Given the description of an element on the screen output the (x, y) to click on. 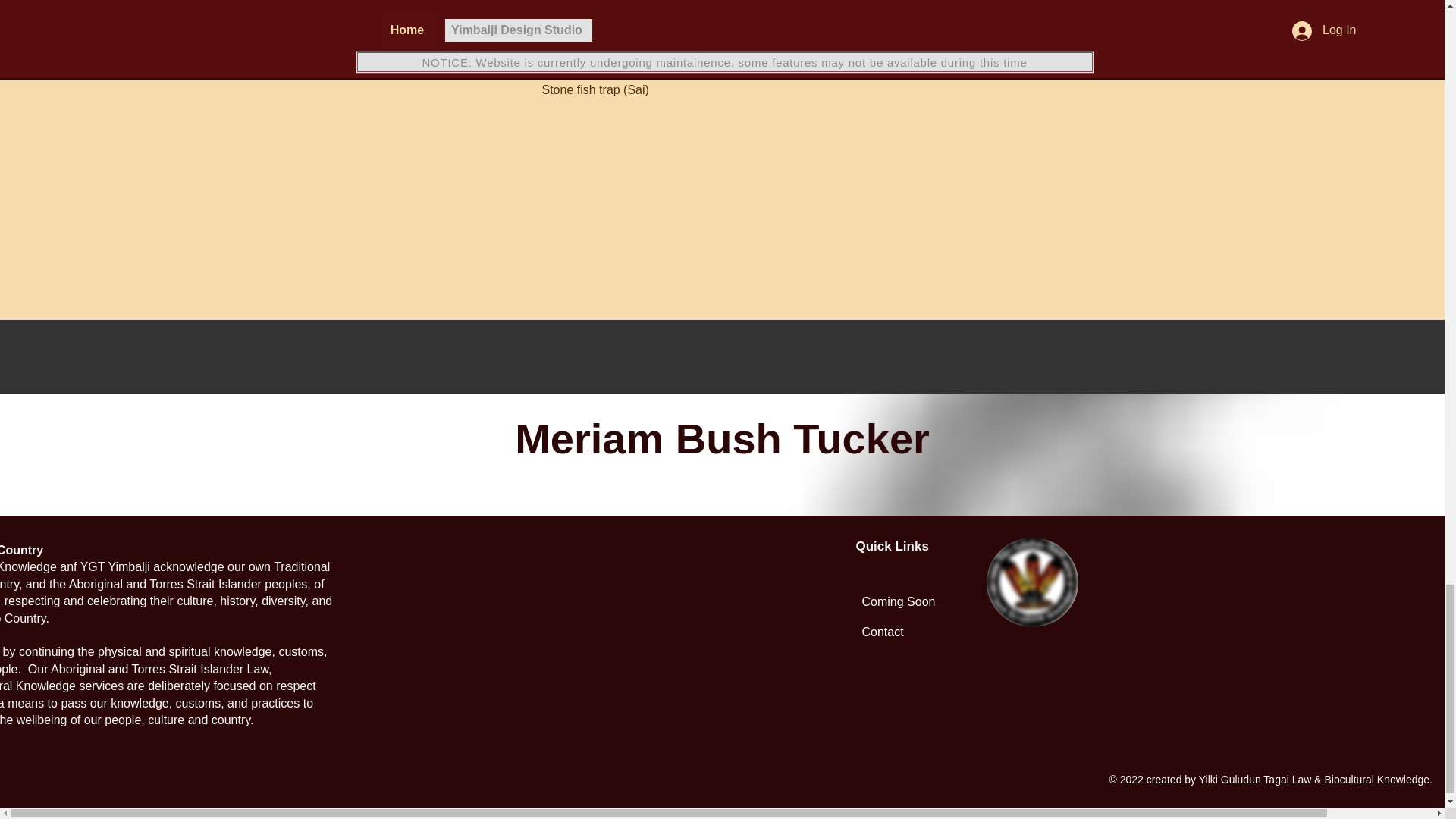
Coming Soon (949, 602)
Contact (949, 632)
